Given the description of an element on the screen output the (x, y) to click on. 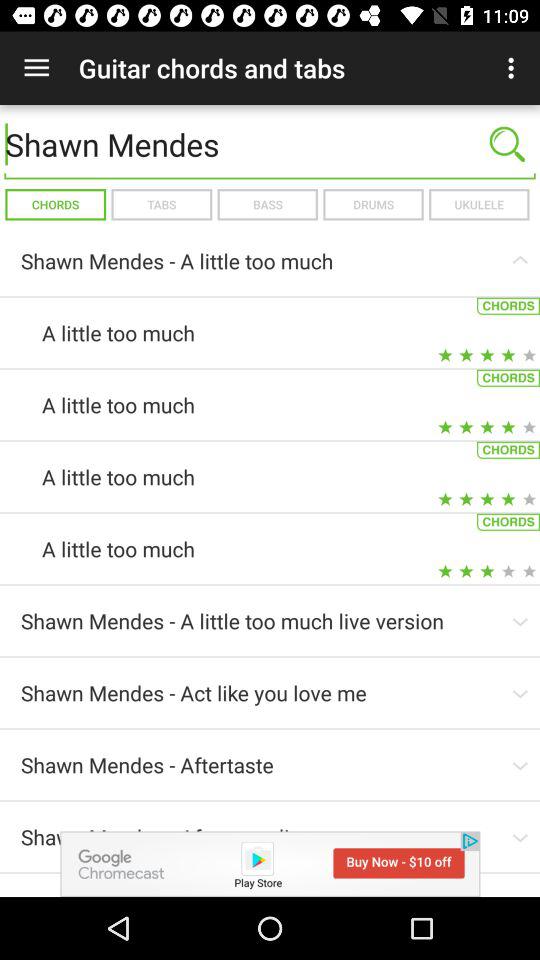
click the icon to the right of guitar chords and app (513, 67)
